Given the description of an element on the screen output the (x, y) to click on. 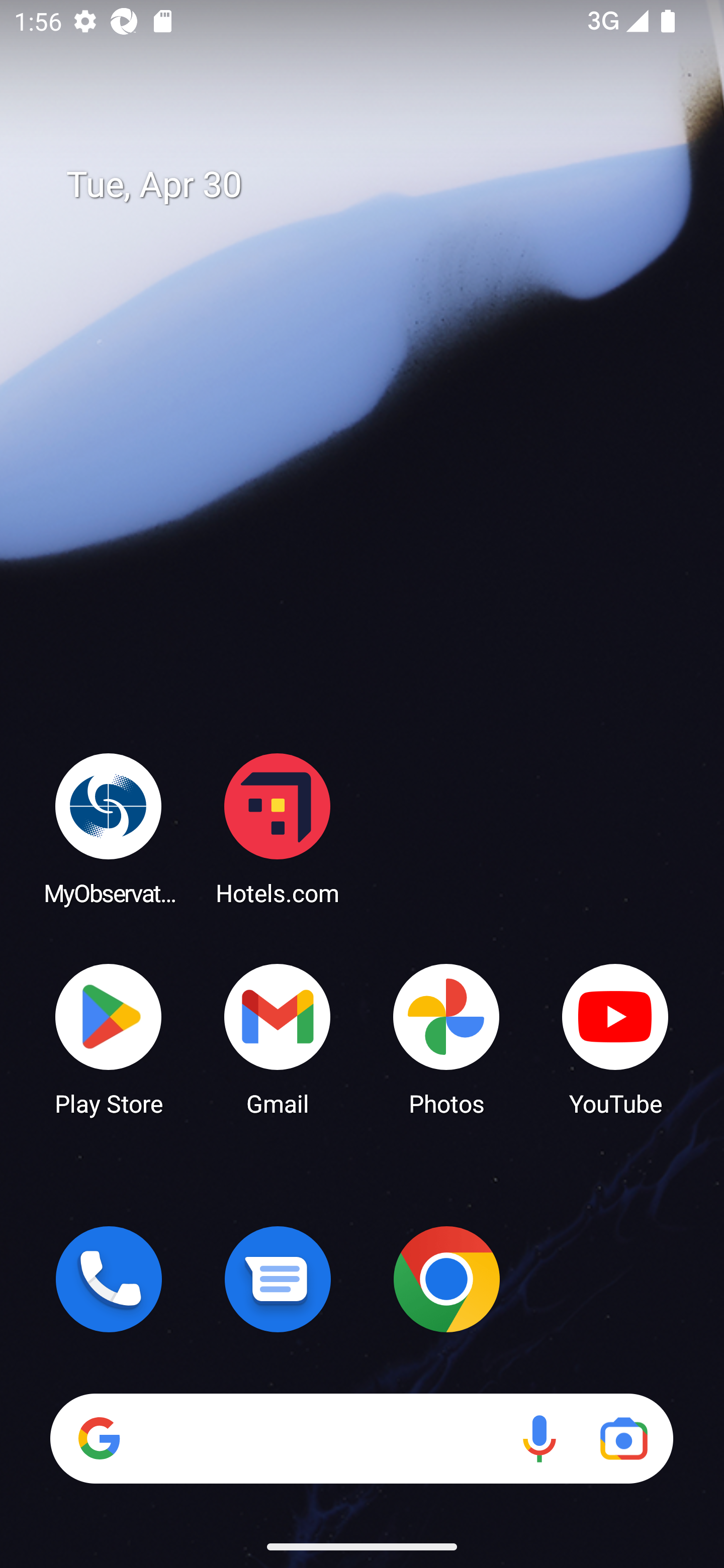
Tue, Apr 30 (375, 184)
MyObservatory (108, 828)
Hotels.com (277, 828)
Play Store (108, 1038)
Gmail (277, 1038)
Photos (445, 1038)
YouTube (615, 1038)
Phone (108, 1279)
Messages (277, 1279)
Chrome (446, 1279)
Voice search (539, 1438)
Google Lens (623, 1438)
